Given the description of an element on the screen output the (x, y) to click on. 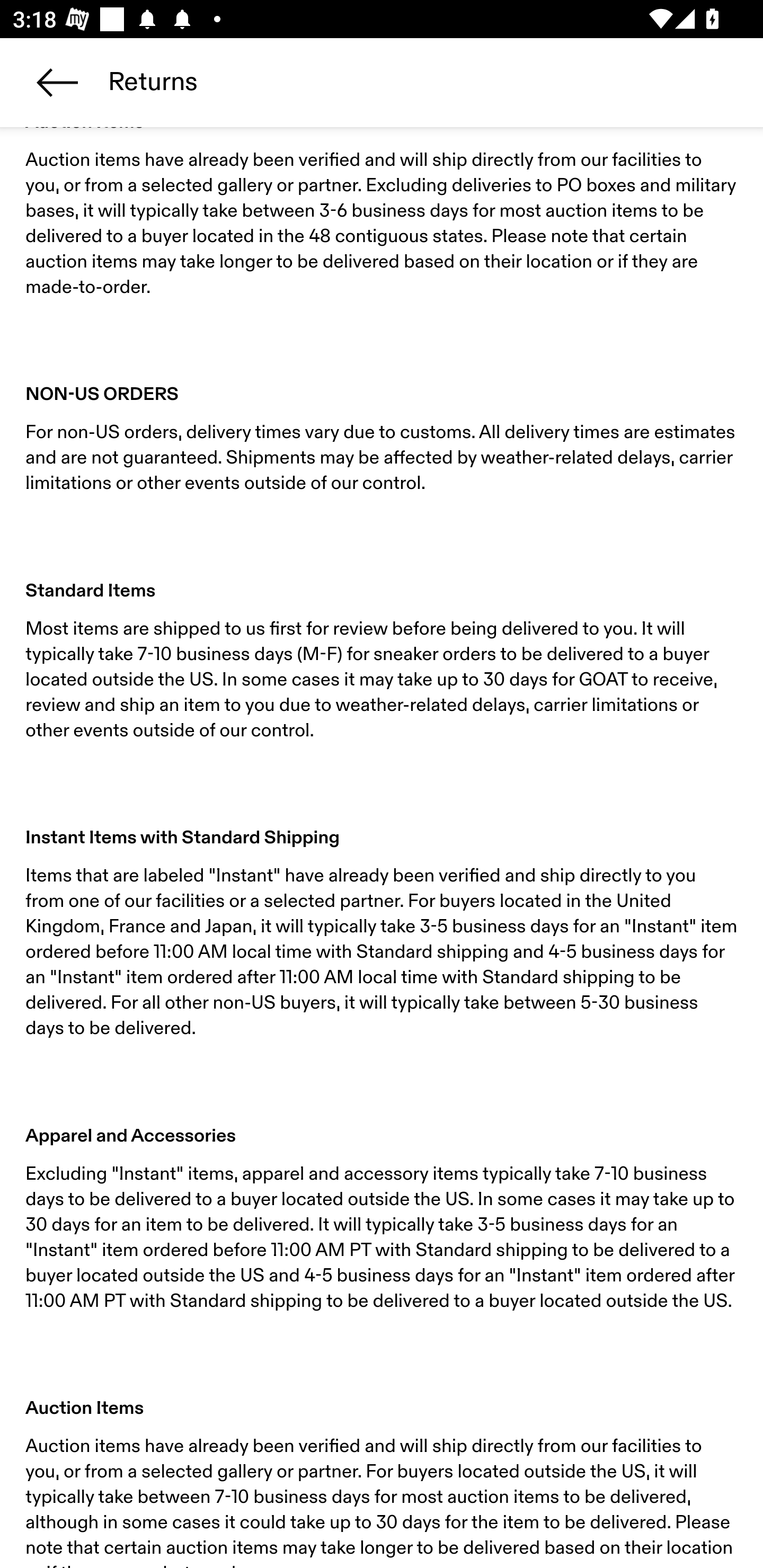
Navigate up (56, 82)
